Given the description of an element on the screen output the (x, y) to click on. 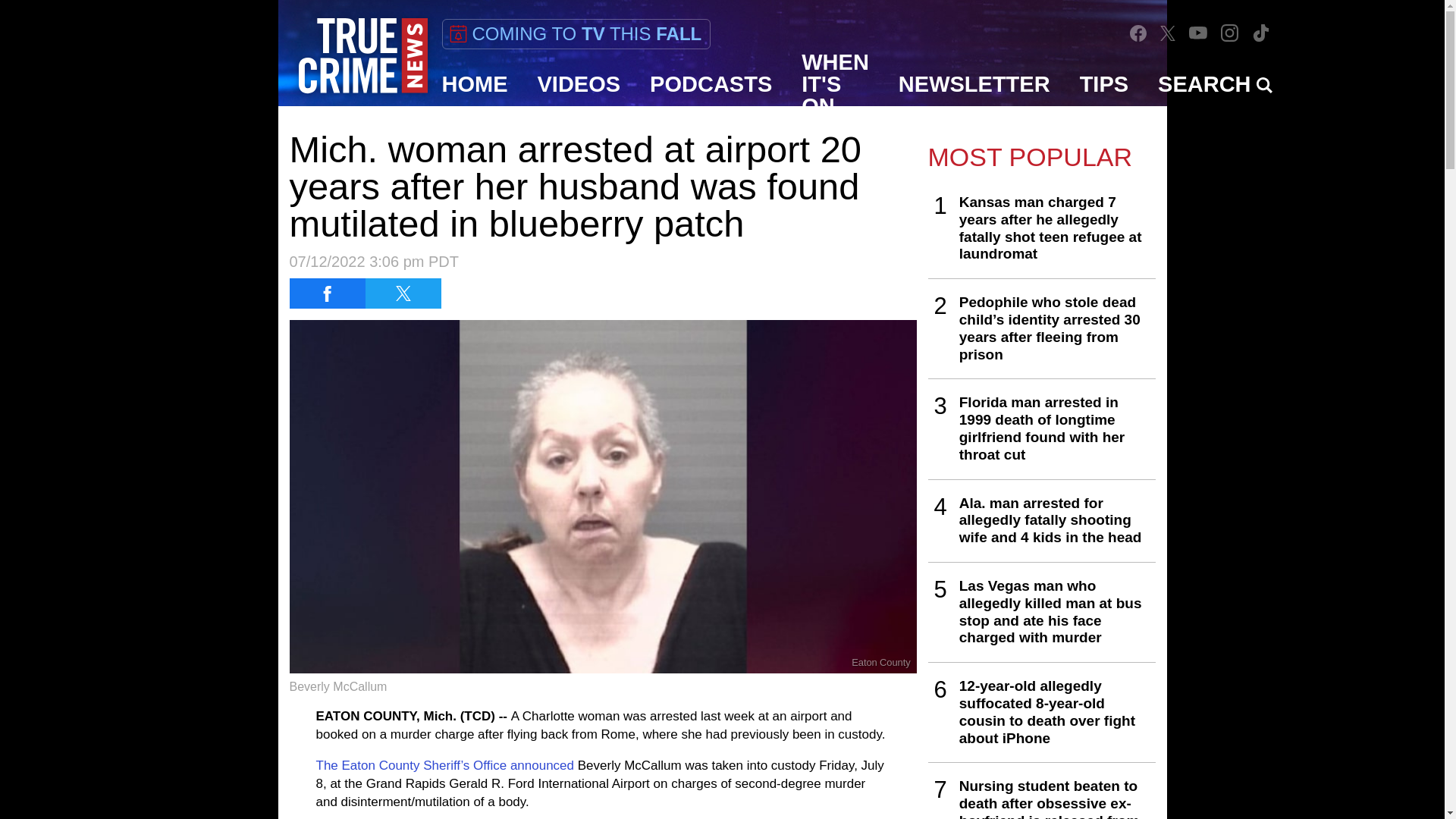
True Crime News (363, 56)
YouTube (1198, 32)
YouTube (1198, 32)
COMING TO TV THIS FALL (575, 33)
NEWSLETTER (974, 84)
WHEN IT'S ON (835, 84)
Instagram (1230, 32)
Twitter (1167, 32)
PODCASTS (710, 84)
TikTok (1260, 32)
Facebook (1138, 32)
TikTok (1260, 32)
VIDEOS (579, 84)
SEARCH (1214, 84)
Facebook (1137, 33)
